Given the description of an element on the screen output the (x, y) to click on. 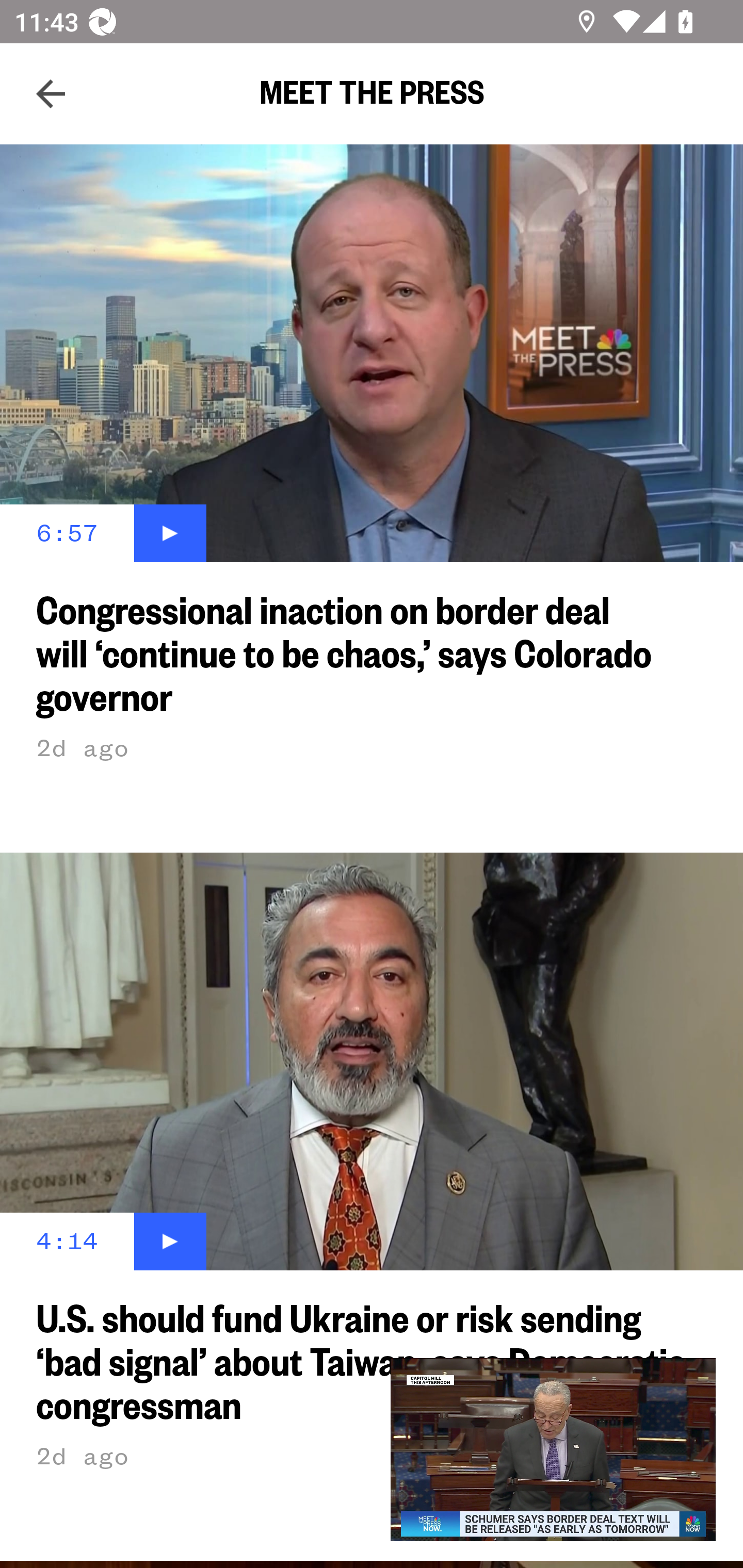
Navigate up (50, 93)
